Given the description of an element on the screen output the (x, y) to click on. 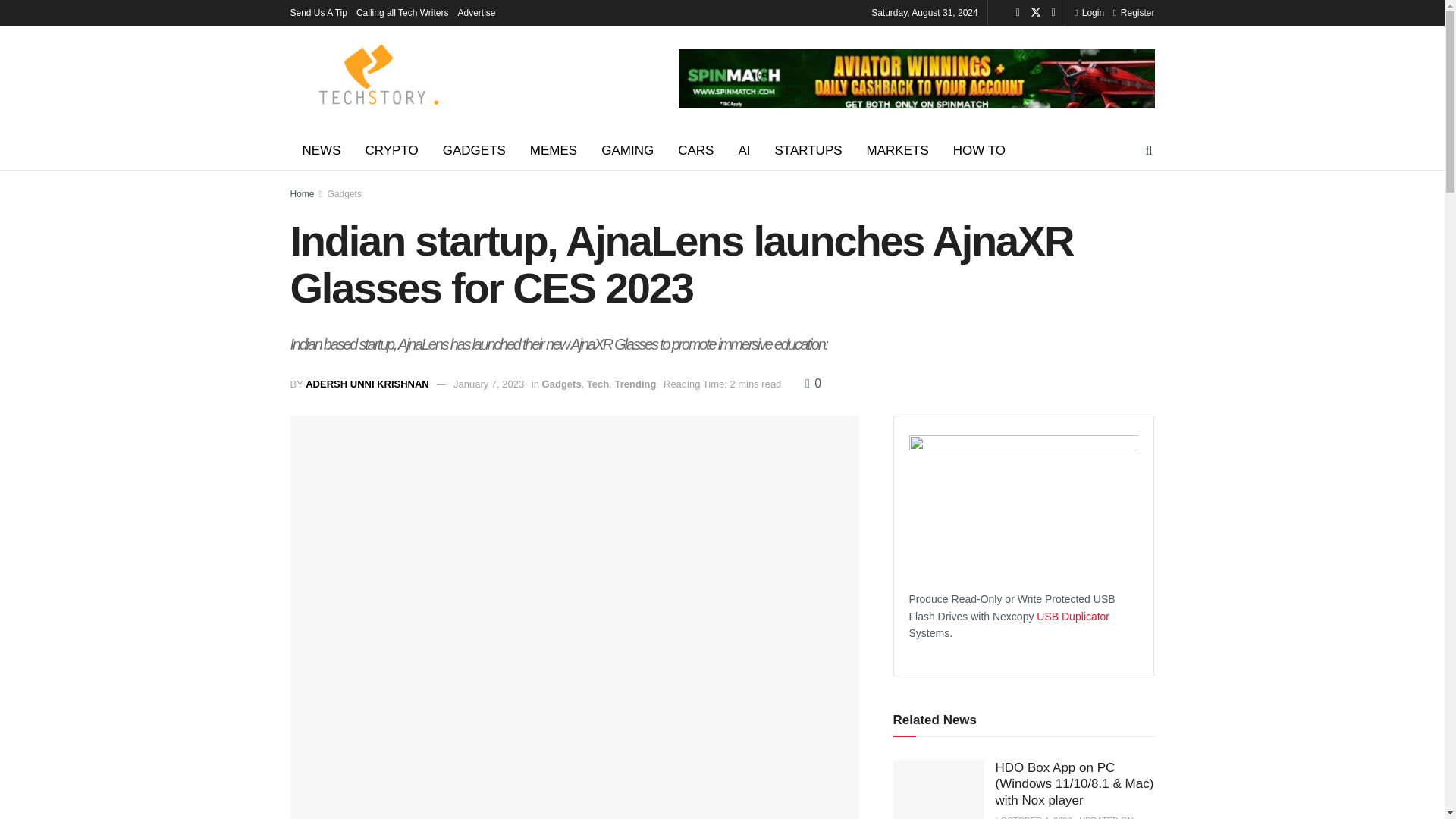
STARTUPS (807, 150)
MARKETS (897, 150)
HOW TO (978, 150)
Login (1088, 12)
Send Us A Tip (317, 12)
Register (1133, 12)
GADGETS (474, 150)
Advertise (477, 12)
Calling all Tech Writers (402, 12)
MEMES (553, 150)
